Given the description of an element on the screen output the (x, y) to click on. 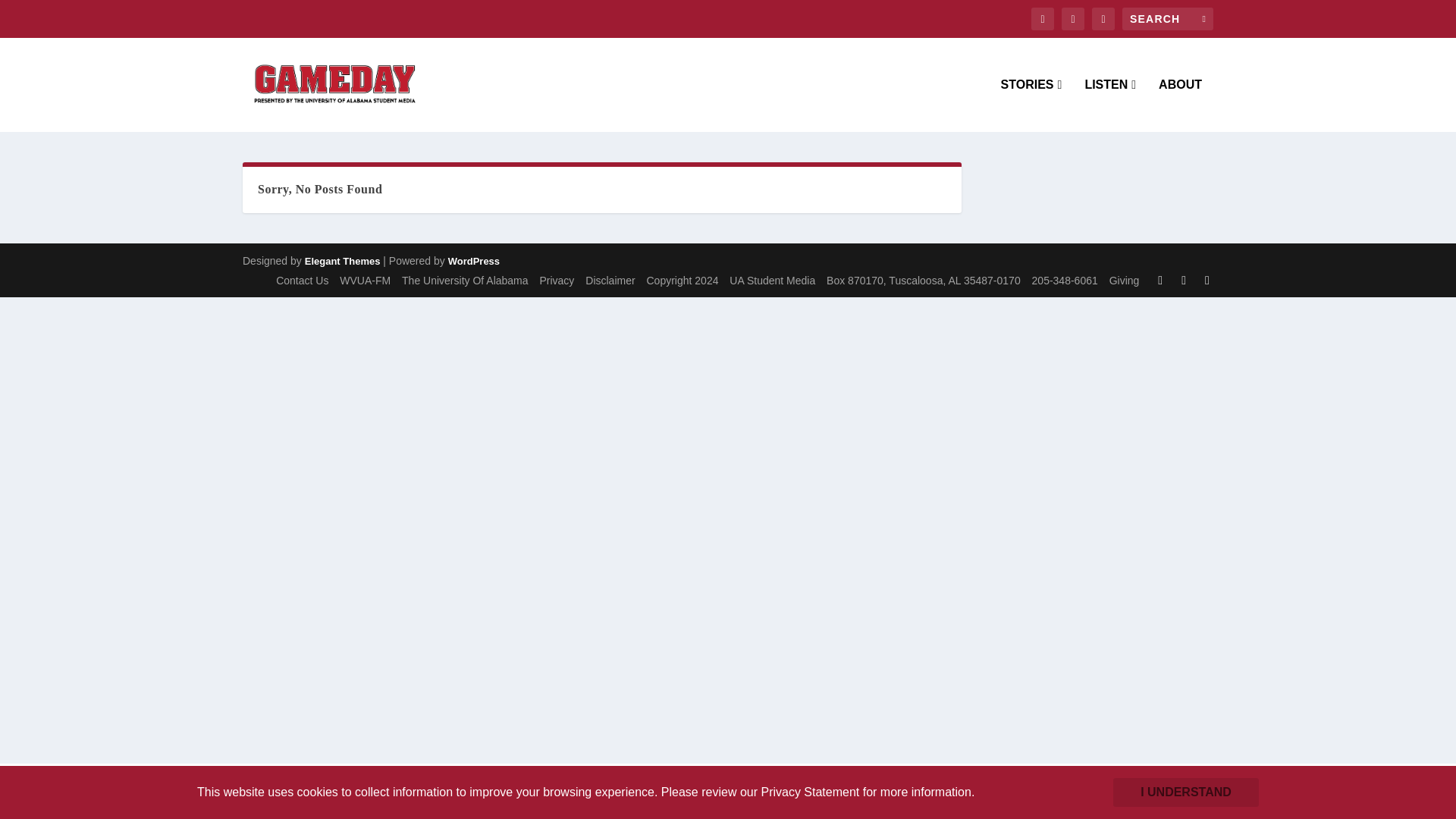
Search for: (1167, 18)
Premium WordPress Themes (342, 260)
STORIES (1031, 104)
LISTEN (1109, 104)
